Given the description of an element on the screen output the (x, y) to click on. 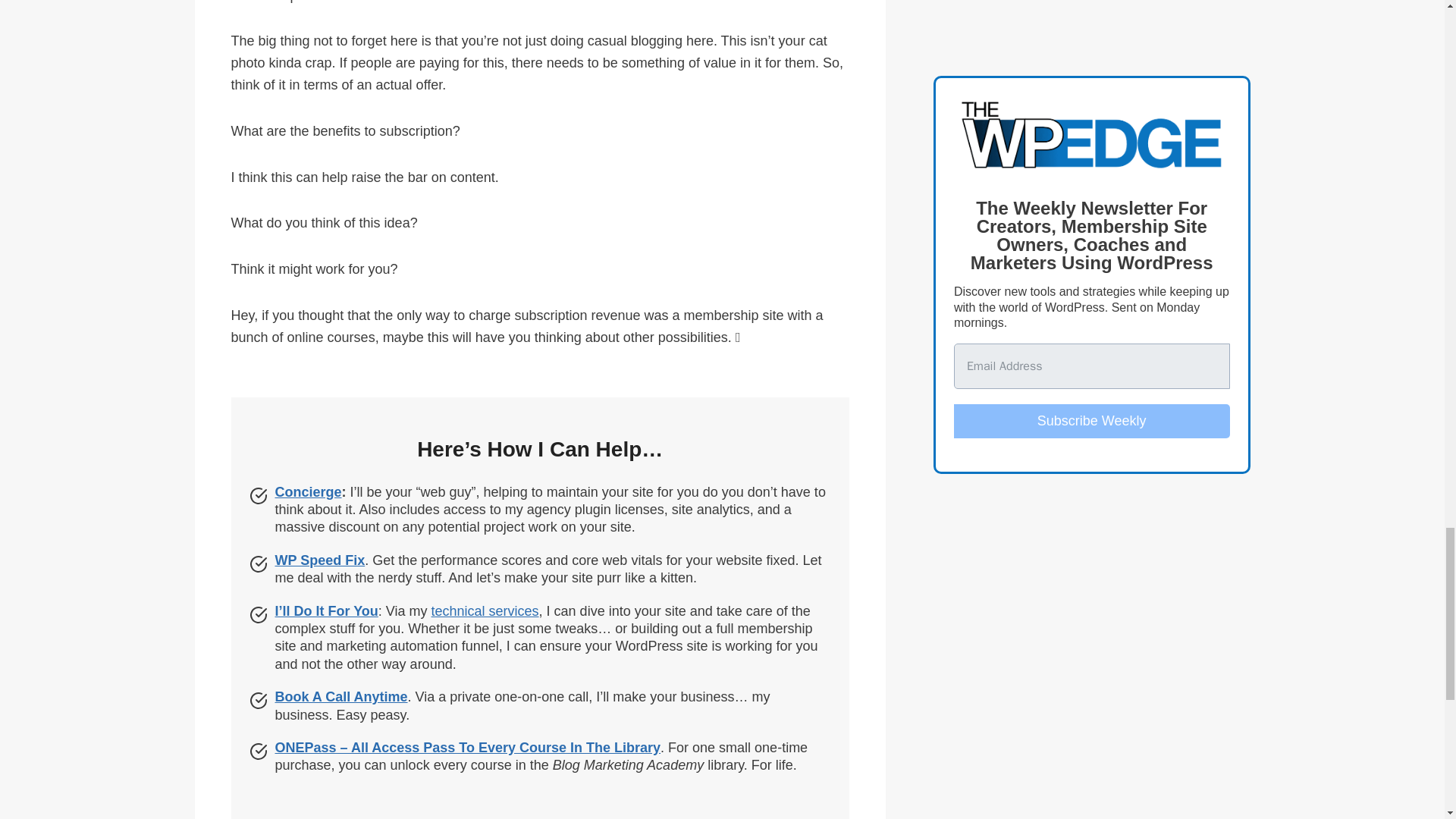
Concierge (307, 491)
technical services (484, 611)
Book A Call Anytime (341, 696)
WP Speed Fix (320, 560)
